Given the description of an element on the screen output the (x, y) to click on. 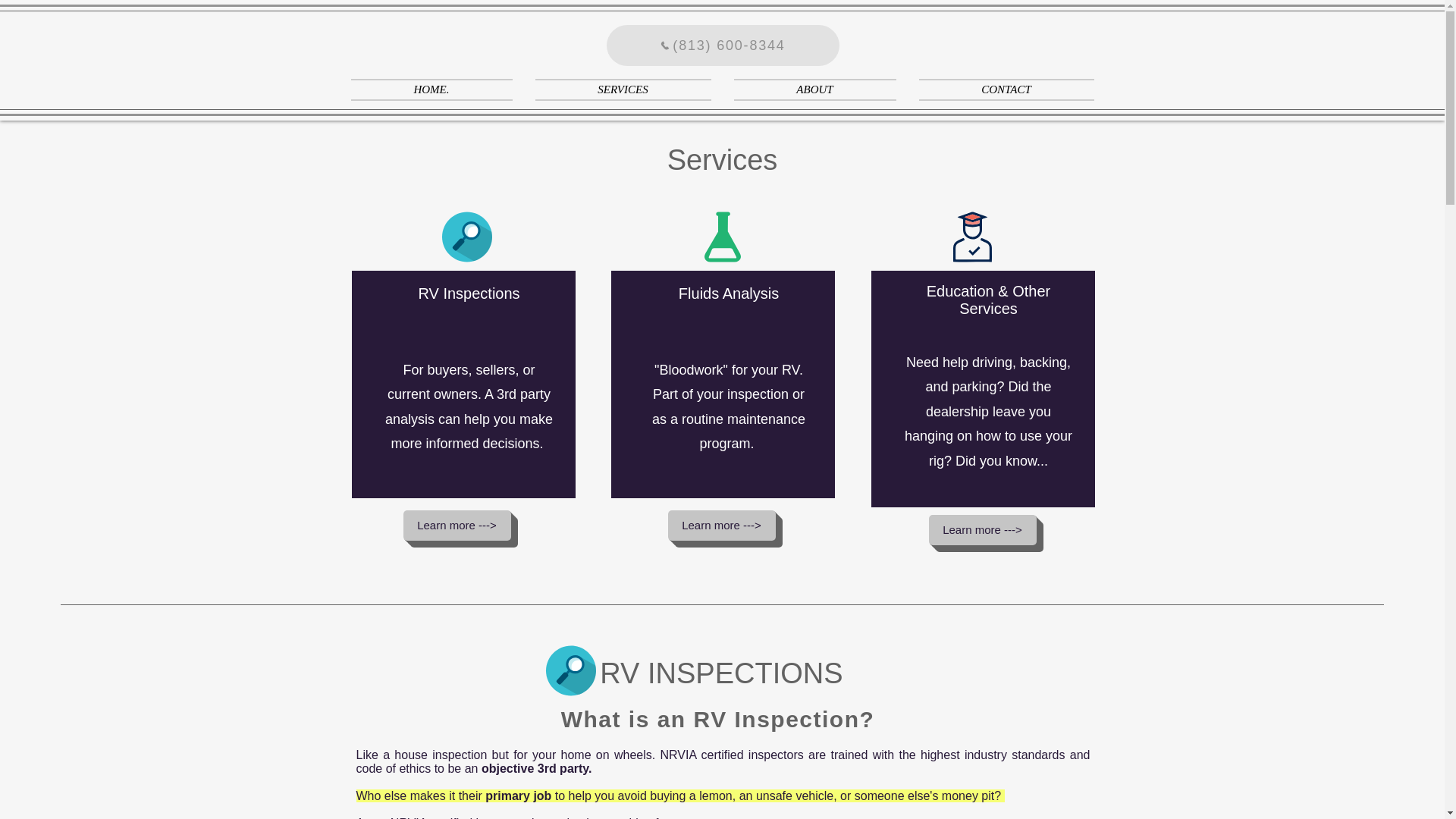
HOME. (436, 89)
CONTACT (1000, 89)
ABOUT (814, 89)
SERVICES (622, 89)
